Given the description of an element on the screen output the (x, y) to click on. 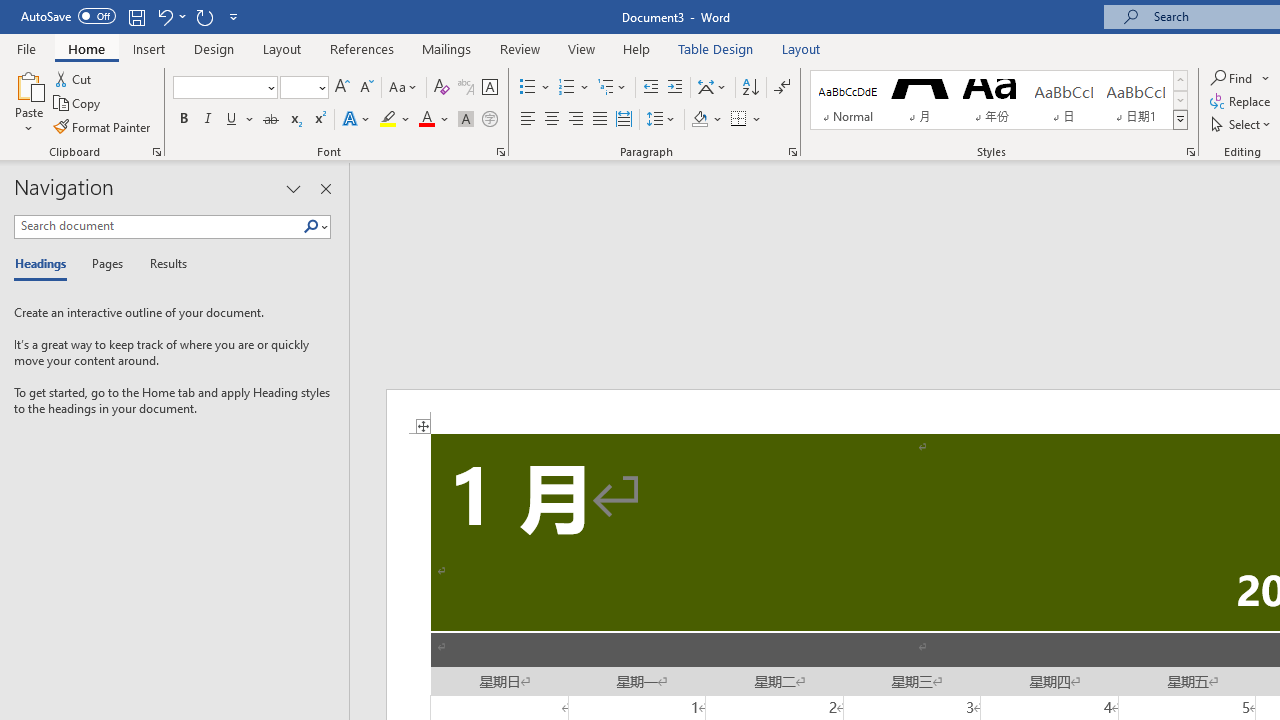
Row up (1179, 79)
Bullets (527, 87)
Search (315, 227)
Save (136, 15)
Cut (73, 78)
Show/Hide Editing Marks (781, 87)
Office Clipboard... (156, 151)
Strikethrough (270, 119)
Row Down (1179, 100)
Home (86, 48)
Underline (232, 119)
Replace... (1242, 101)
Borders (739, 119)
Superscript (319, 119)
Font... (500, 151)
